Given the description of an element on the screen output the (x, y) to click on. 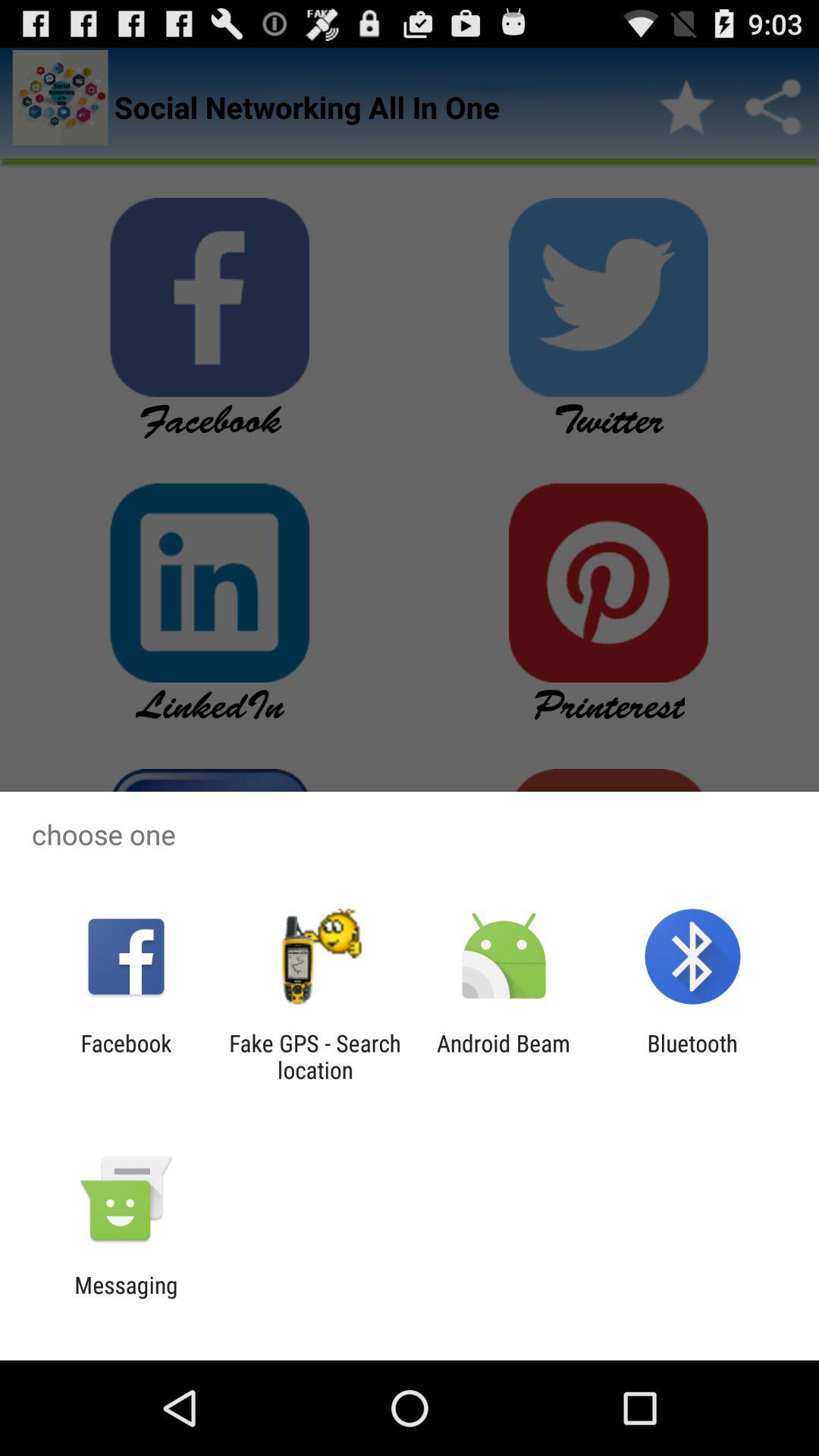
turn on the item next to the android beam (314, 1056)
